Given the description of an element on the screen output the (x, y) to click on. 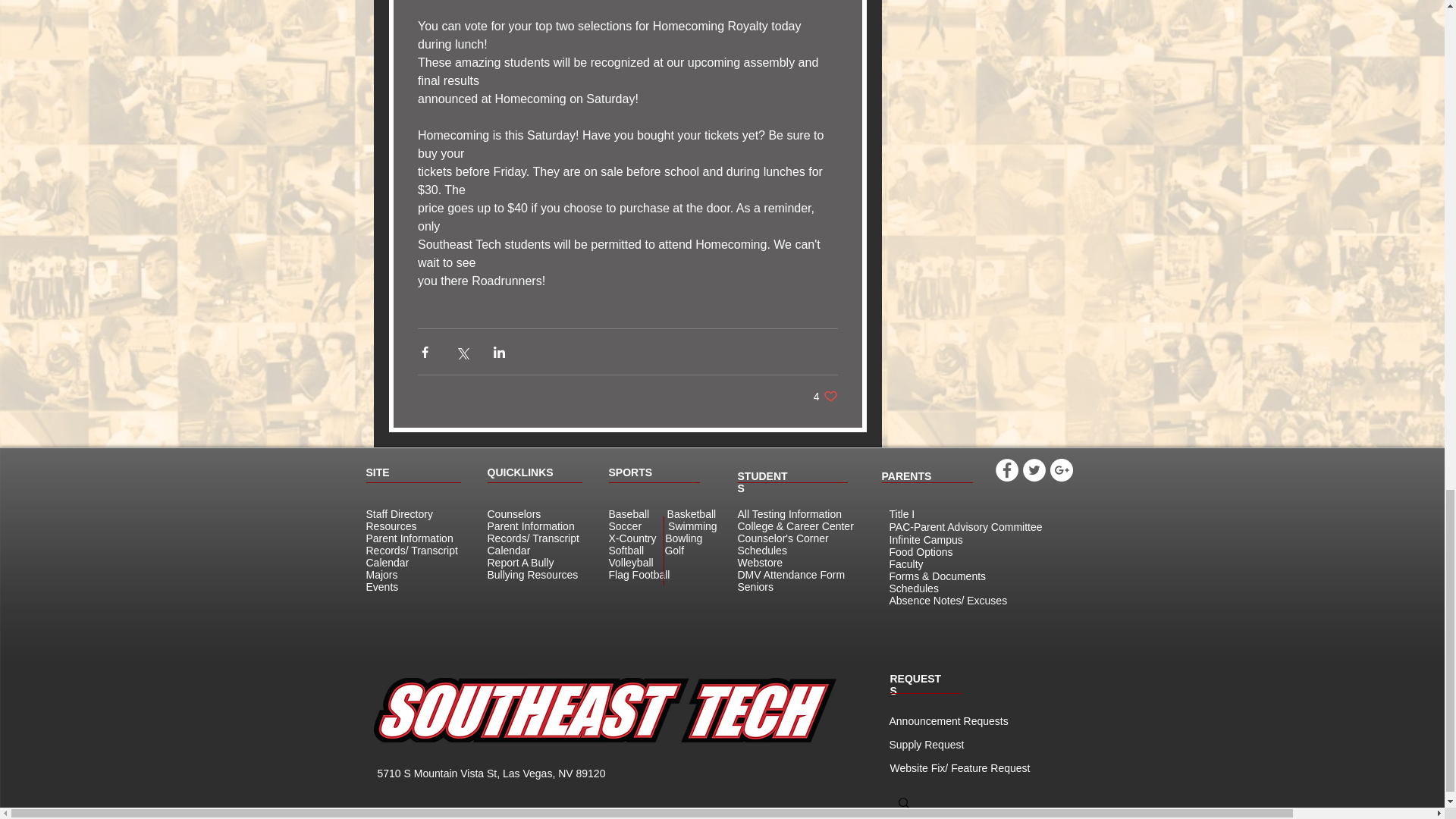
Resources (390, 526)
Majors (381, 574)
Staff Directory (398, 513)
Calendar (387, 562)
Parent Information (529, 526)
Counselors (513, 513)
Calendar (507, 550)
Events (381, 586)
Parent Informatio (405, 538)
SPORTS (630, 472)
Report A Bully (519, 562)
Bullying Resources (825, 396)
STUDENTS (532, 574)
